Given the description of an element on the screen output the (x, y) to click on. 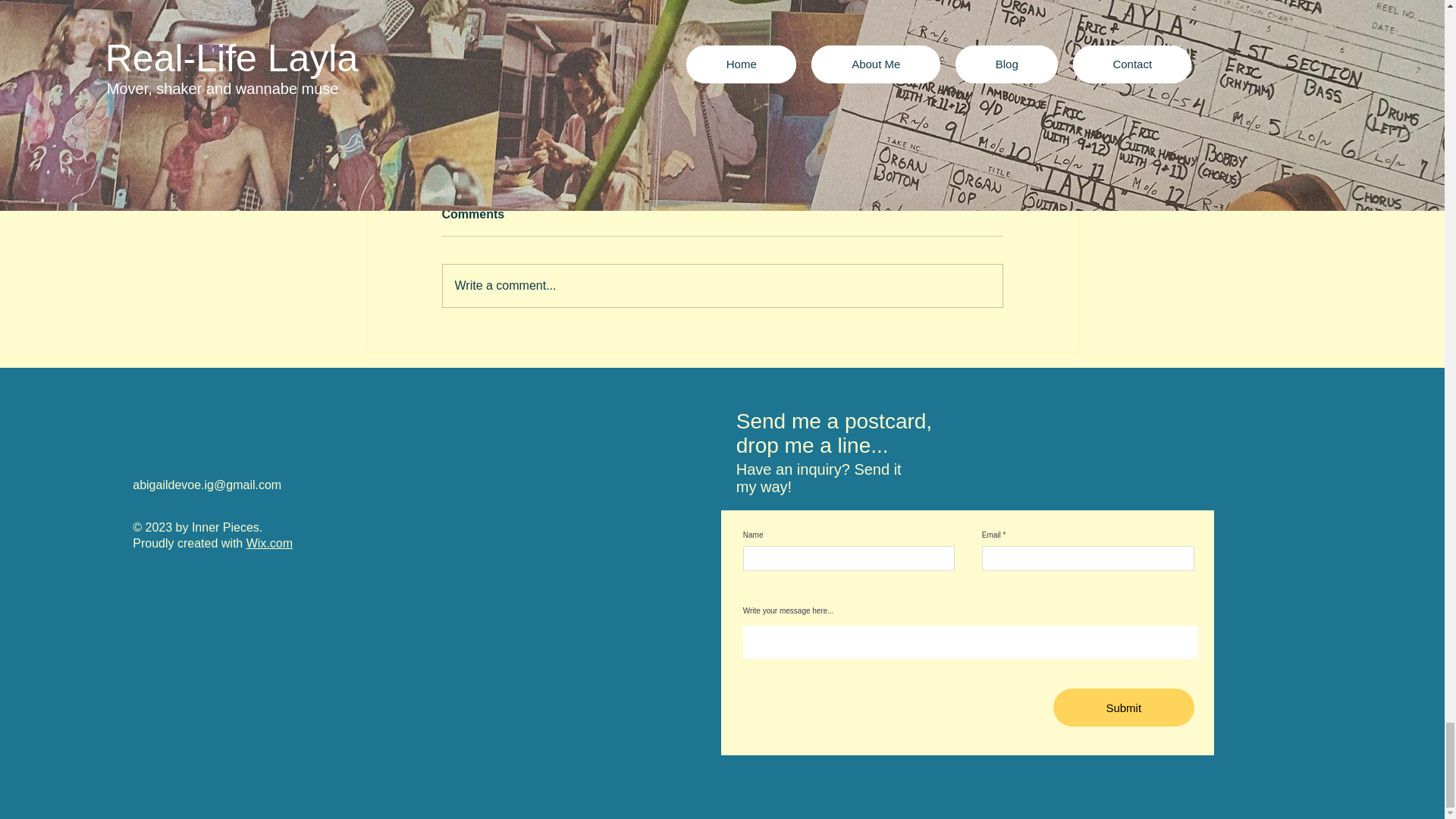
Crate Digging: My Album Recommendations (552, 136)
Write a comment... (721, 83)
The Stacks, From A to Z (722, 285)
Opal Crown: Fleetwood Mac's Hidden Gems (1046, 136)
